Given the description of an element on the screen output the (x, y) to click on. 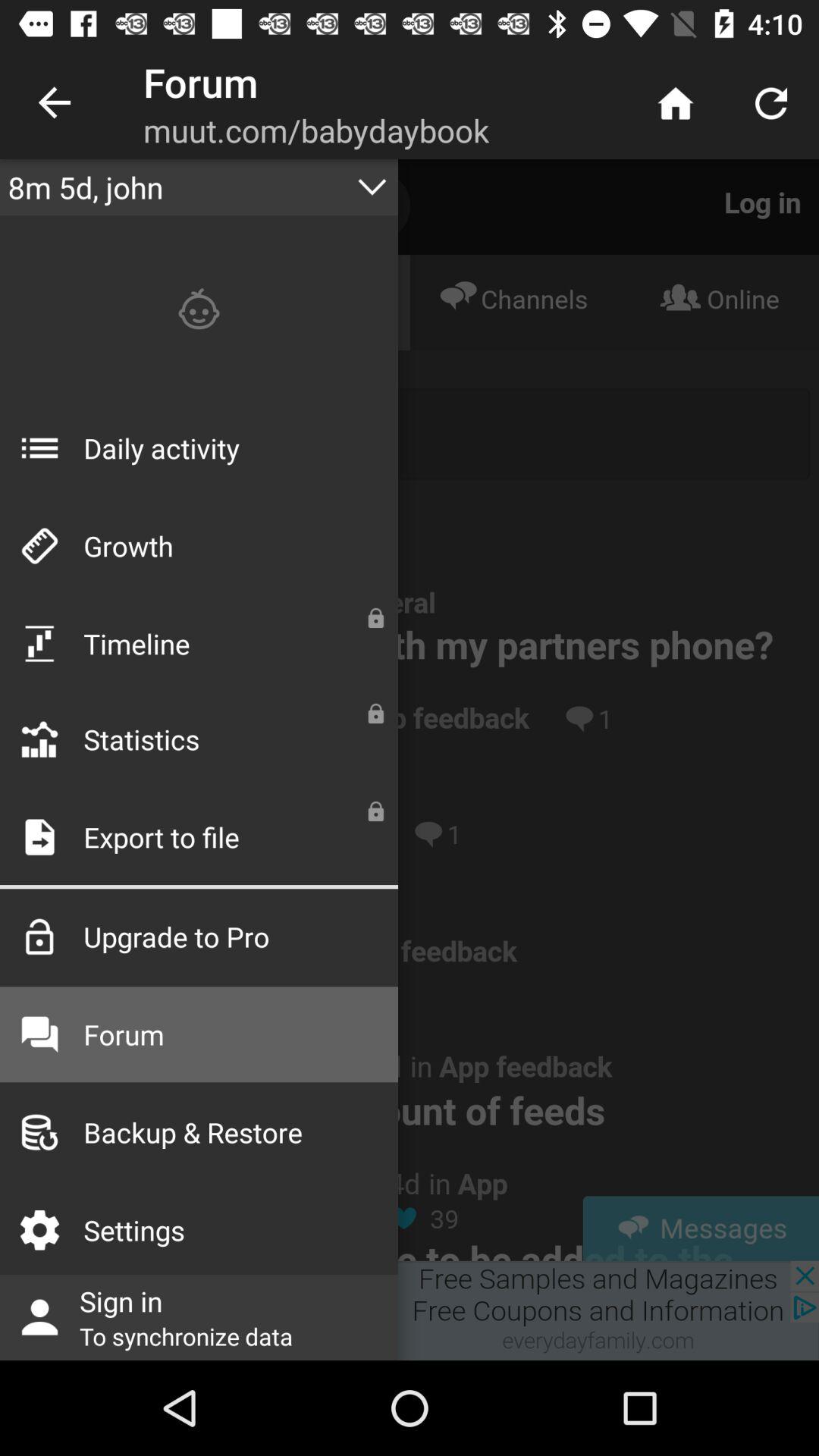
sign in (409, 1310)
